Given the description of an element on the screen output the (x, y) to click on. 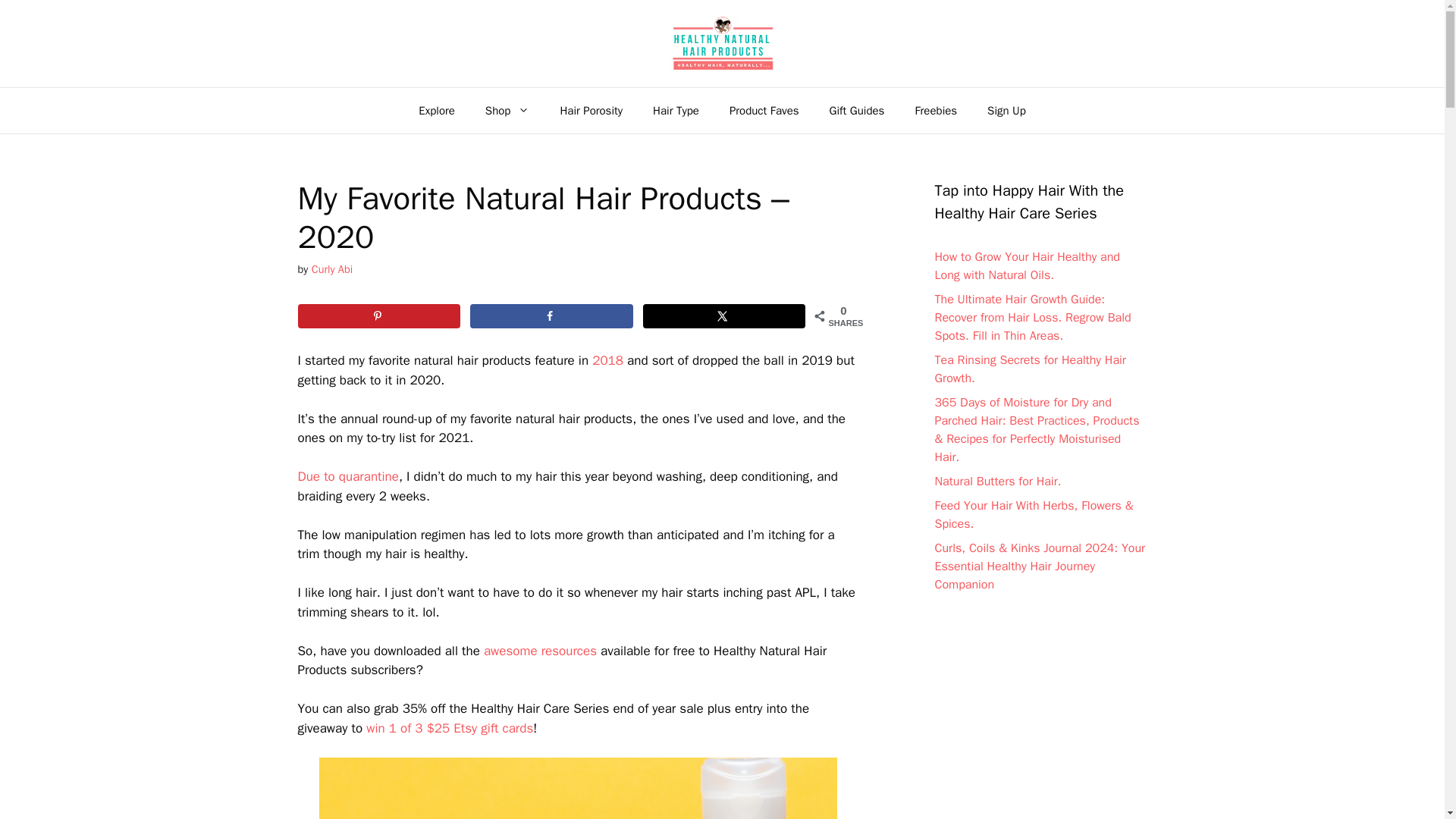
Due to quarantine (347, 476)
Gift Guides (856, 110)
Healthy Hair Care During Quarantine (347, 476)
Freebies (935, 110)
Sign Up (1006, 110)
Hair Type (675, 110)
Product Faves (763, 110)
awesome resources (539, 650)
Save to Pinterest (378, 315)
Explore (436, 110)
